Given the description of an element on the screen output the (x, y) to click on. 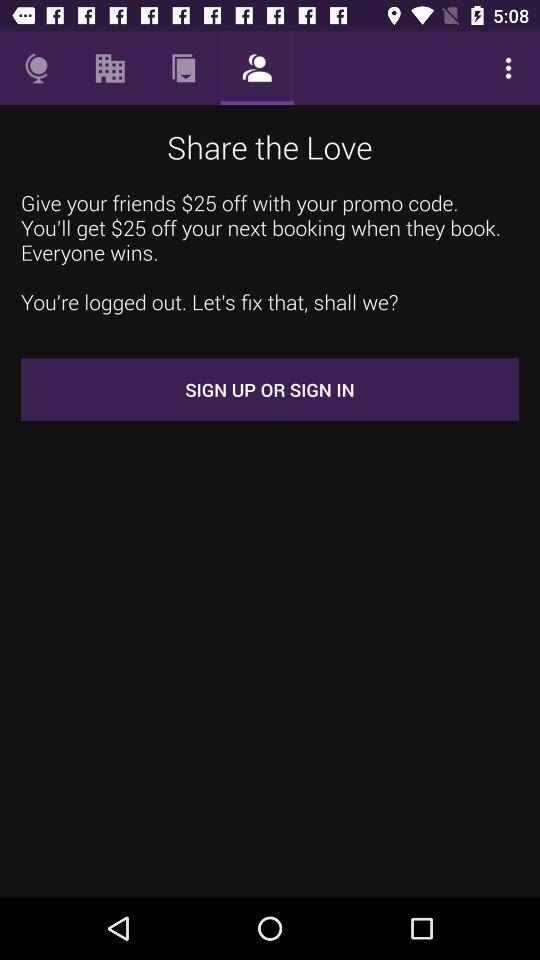
open item above the share the love icon (183, 68)
